Given the description of an element on the screen output the (x, y) to click on. 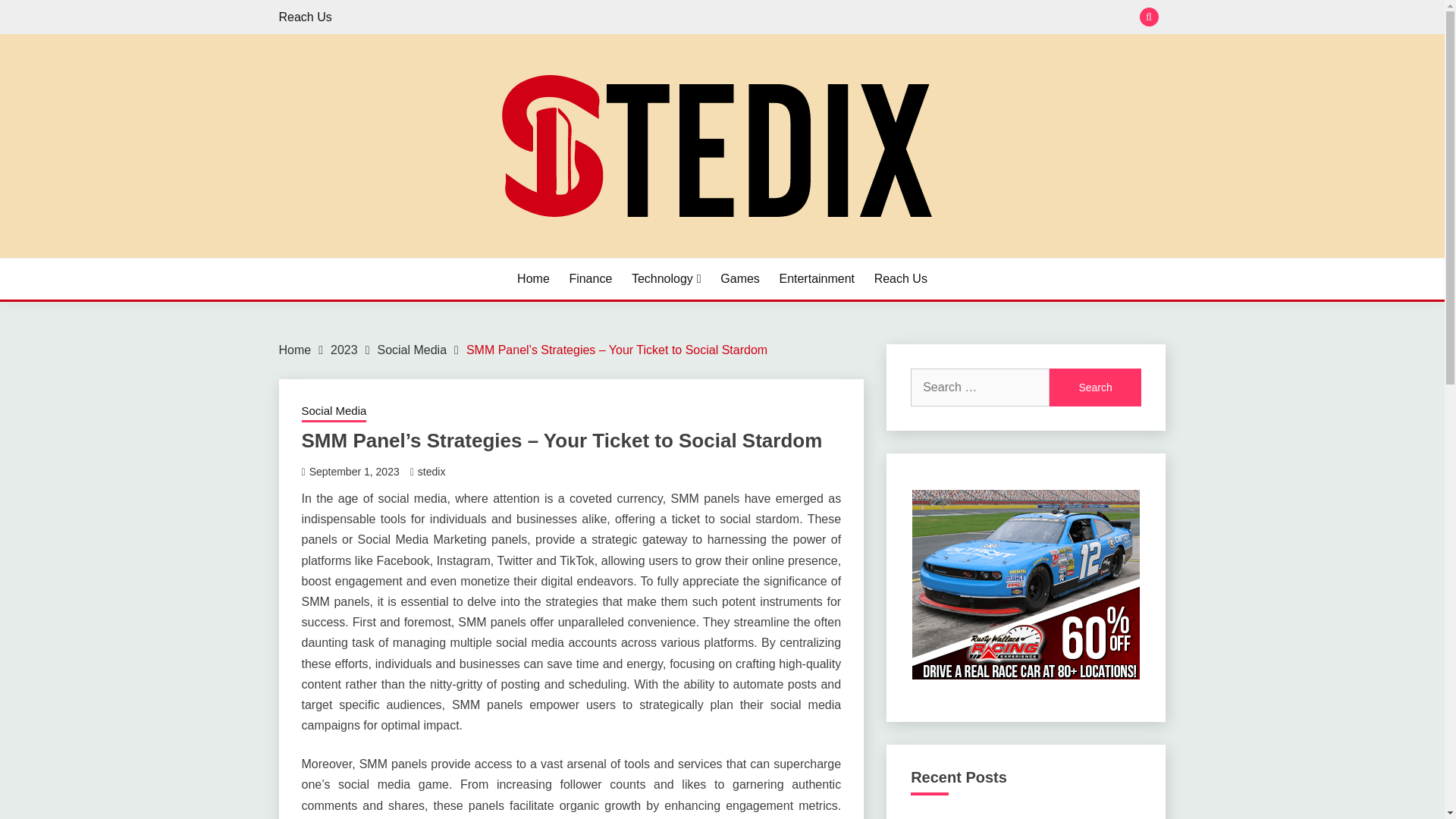
2023 (344, 349)
Search (832, 18)
stedix (431, 471)
Games (740, 279)
Home (533, 279)
Finance (590, 279)
Search (1095, 387)
Social Media (333, 412)
Reach Us (305, 16)
Entertainment (816, 279)
STEDIX (329, 255)
Search (1095, 387)
Home (295, 349)
Technology (666, 279)
September 1, 2023 (353, 471)
